Given the description of an element on the screen output the (x, y) to click on. 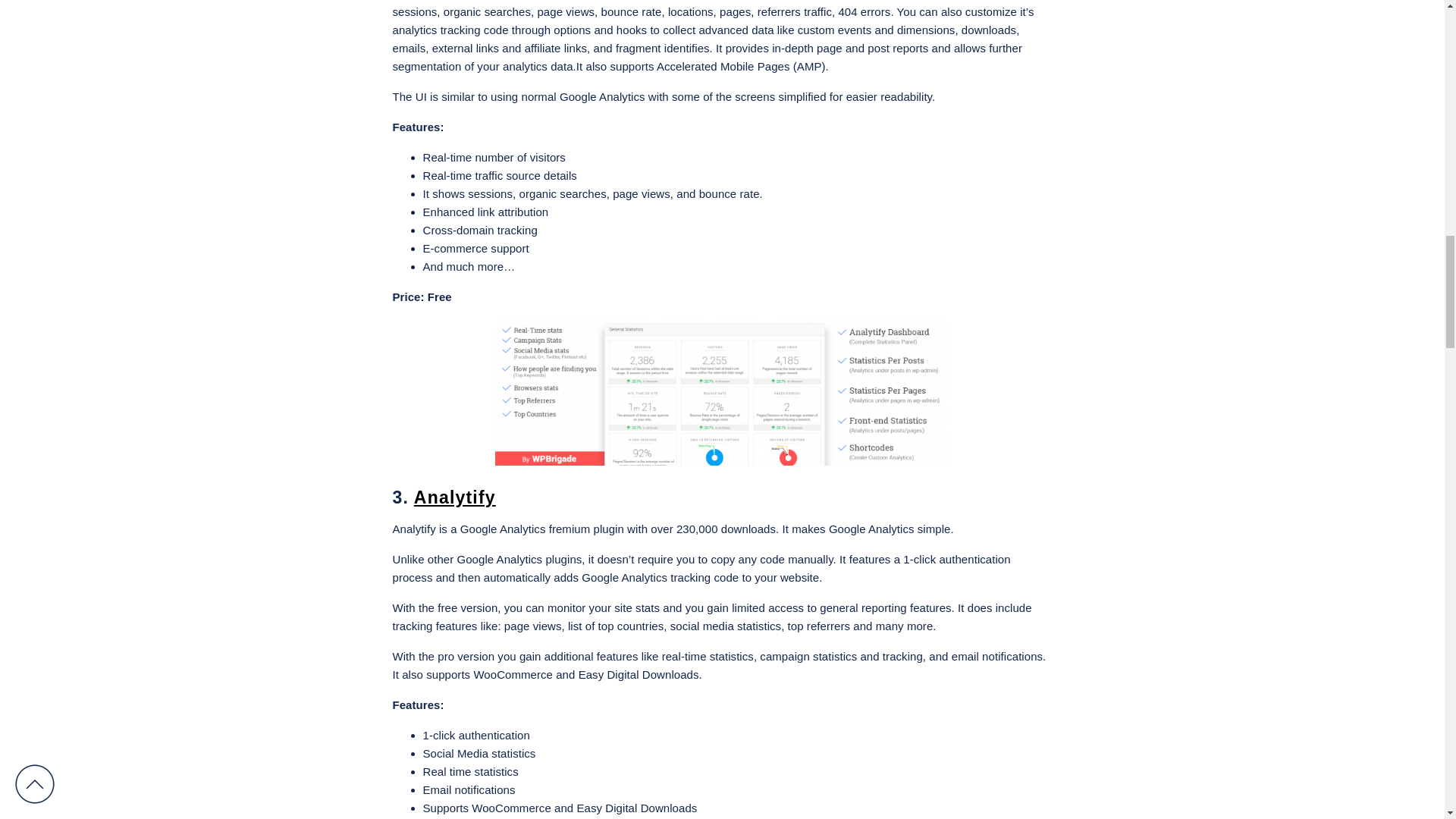
Analytify (454, 496)
